Given the description of an element on the screen output the (x, y) to click on. 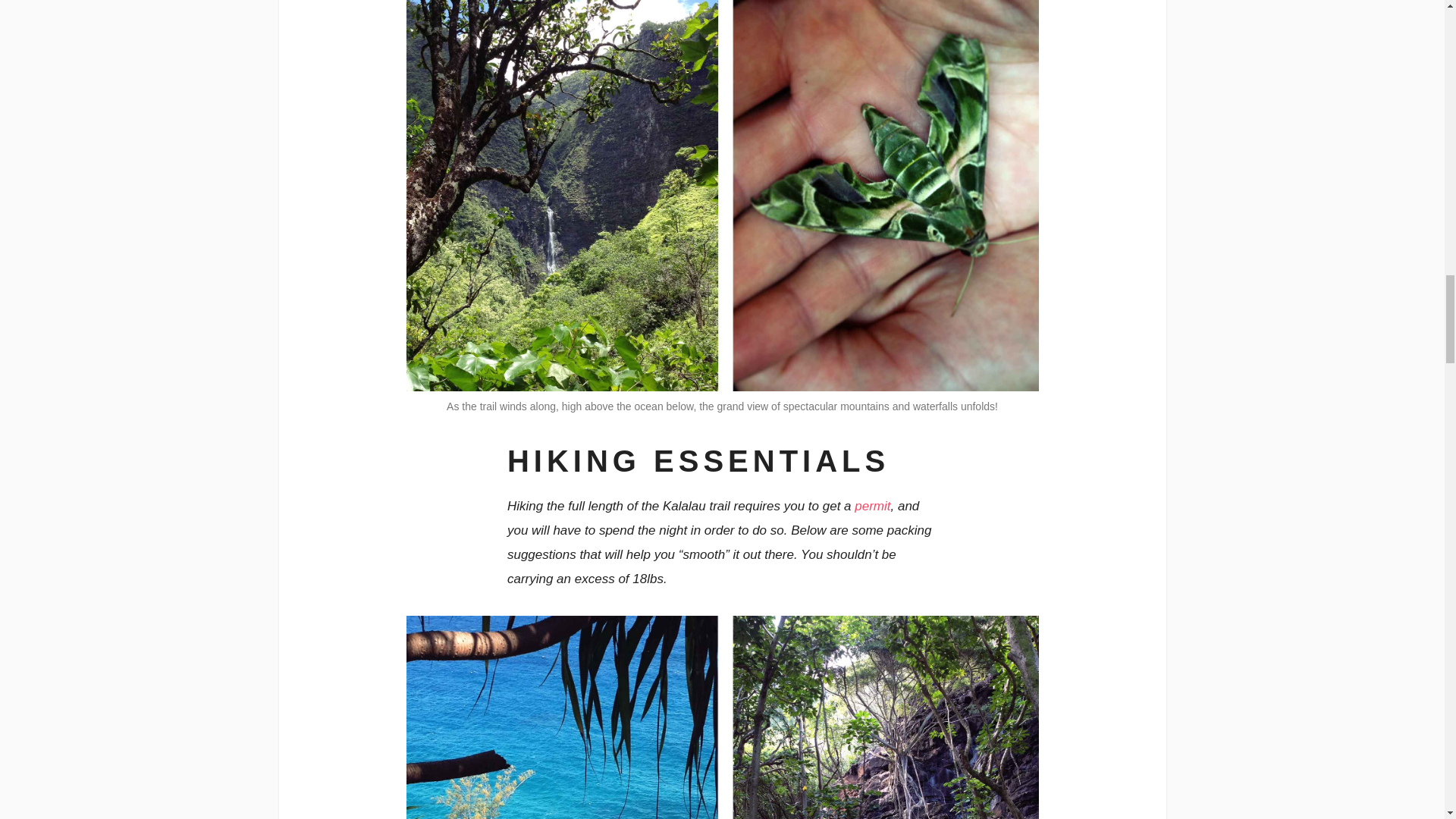
permit (871, 505)
